Given the description of an element on the screen output the (x, y) to click on. 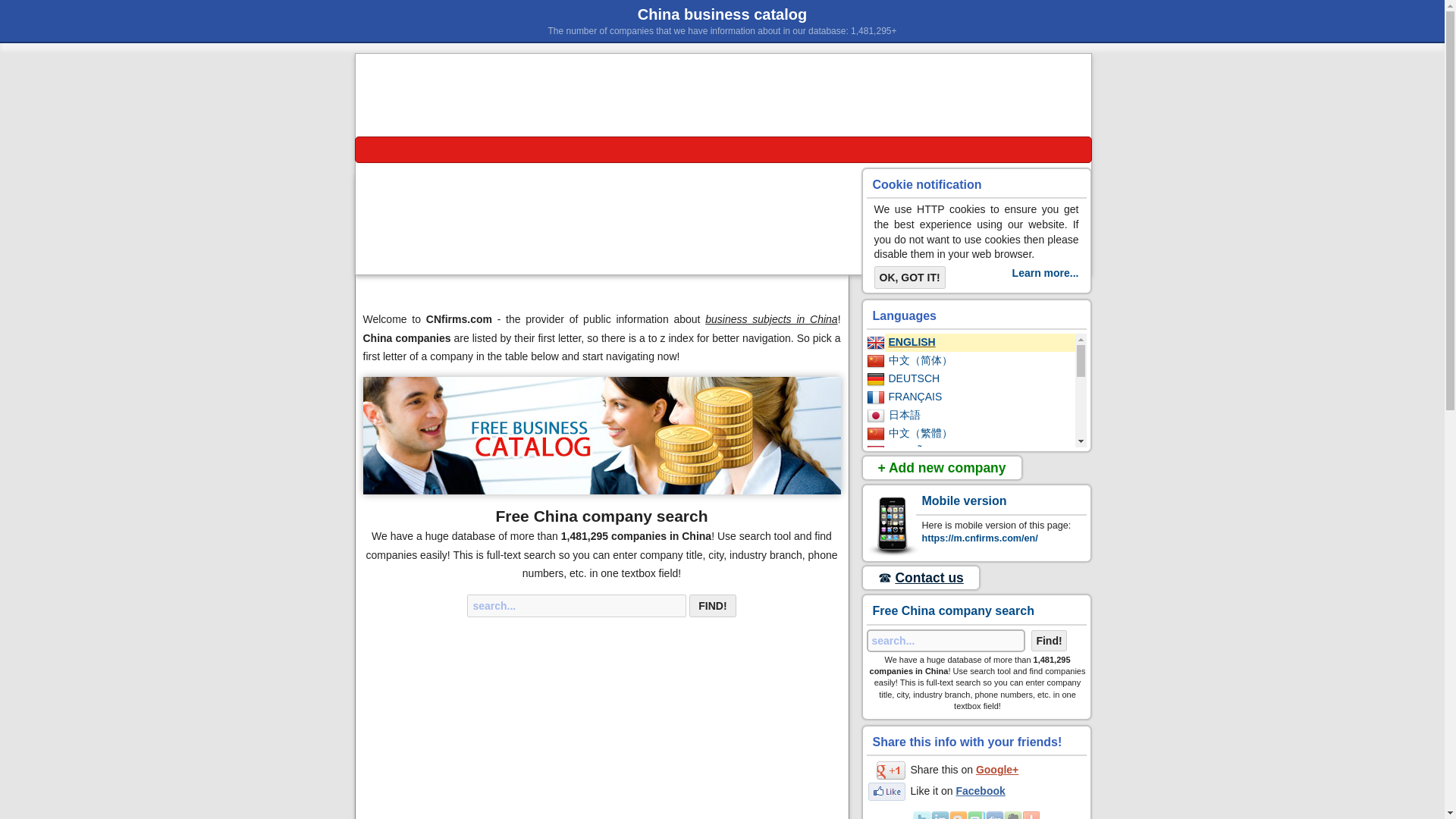
Find! (711, 605)
Find! (711, 605)
Advertisement (601, 264)
